Given the description of an element on the screen output the (x, y) to click on. 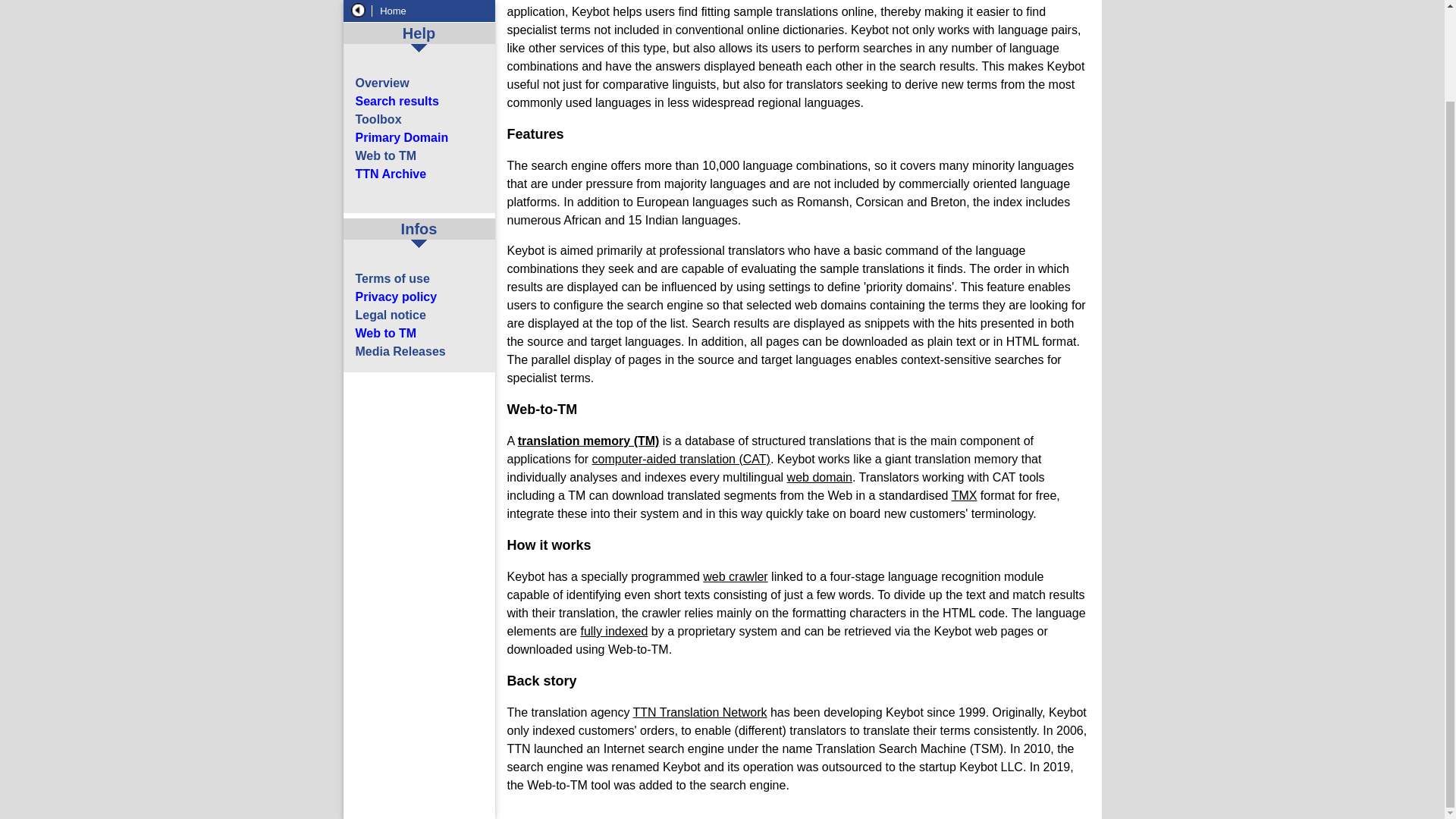
Web to TM (385, 51)
Web to TM (385, 228)
Privacy policy (395, 192)
web crawler (735, 576)
web domain (819, 477)
TTN Translation Network (700, 712)
TMX (964, 495)
Primary Domain (401, 32)
Search results (396, 1)
Toolbox (378, 14)
TTN Archive (390, 69)
Terms of use (392, 173)
Media Releases (400, 246)
Legal notice (390, 210)
fully indexed (613, 631)
